Given the description of an element on the screen output the (x, y) to click on. 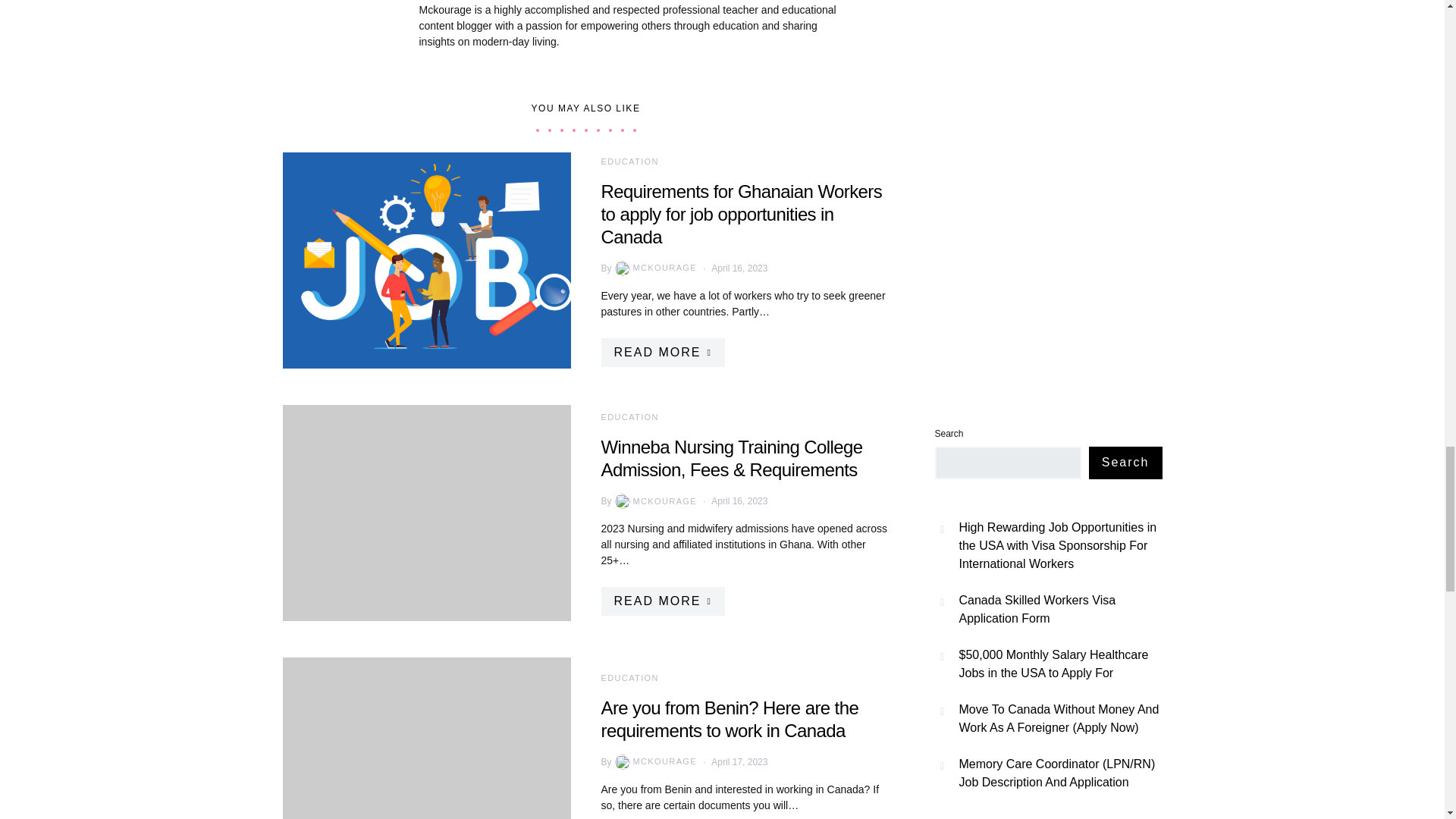
EDUCATION (628, 677)
View all posts by Mckourage (654, 761)
EDUCATION (628, 160)
READ MORE (661, 352)
MCKOURAGE (654, 761)
EDUCATION (628, 416)
READ MORE (661, 601)
View all posts by Mckourage (654, 500)
MCKOURAGE (654, 268)
View all posts by Mckourage (654, 268)
MCKOURAGE (654, 500)
